Given the description of an element on the screen output the (x, y) to click on. 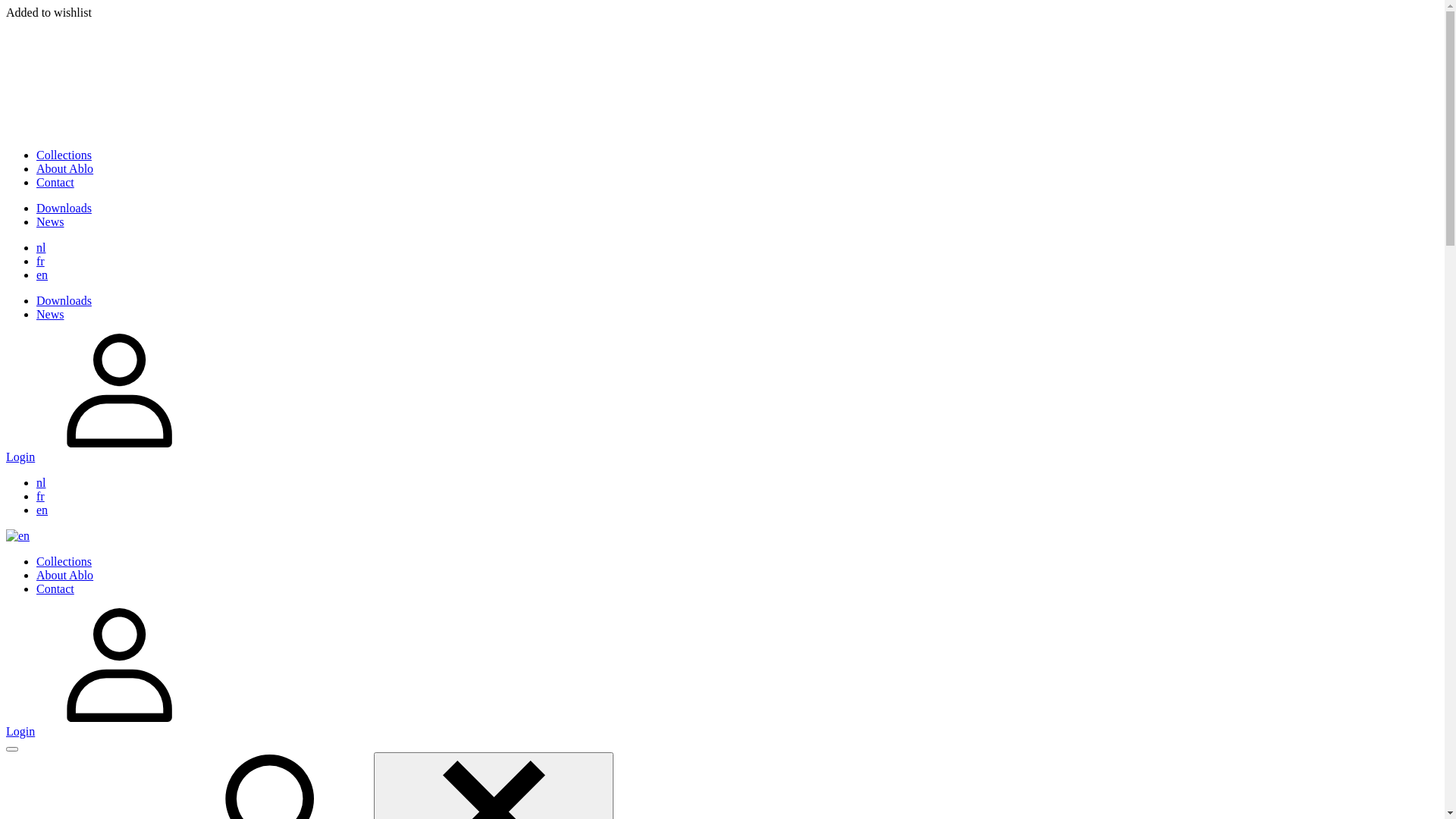
fr Element type: text (40, 495)
About Ablo Element type: text (64, 574)
Login Element type: text (722, 398)
News Element type: text (49, 313)
Contact Element type: text (55, 588)
en Element type: hover (17, 535)
en Element type: text (41, 509)
Contact Element type: text (55, 181)
nl Element type: text (40, 247)
nl Element type: text (40, 482)
fr Element type: text (40, 260)
Login Element type: text (722, 673)
Collections Element type: text (63, 561)
en Element type: text (41, 274)
Downloads Element type: text (63, 207)
Collections Element type: text (63, 154)
About Ablo Element type: text (64, 168)
News Element type: text (49, 221)
Downloads Element type: text (63, 300)
